Given the description of an element on the screen output the (x, y) to click on. 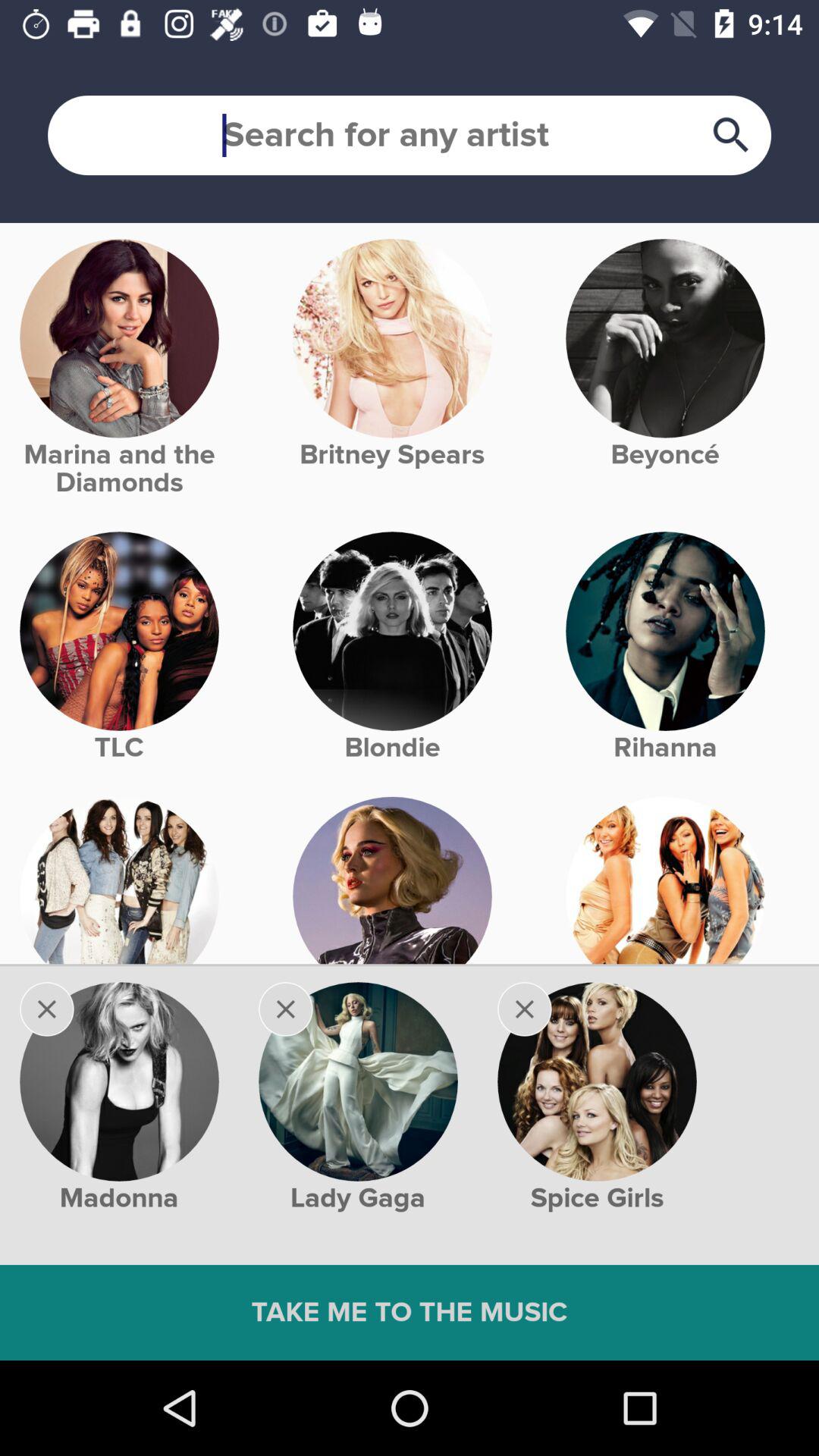
searchbar (409, 135)
